Given the description of an element on the screen output the (x, y) to click on. 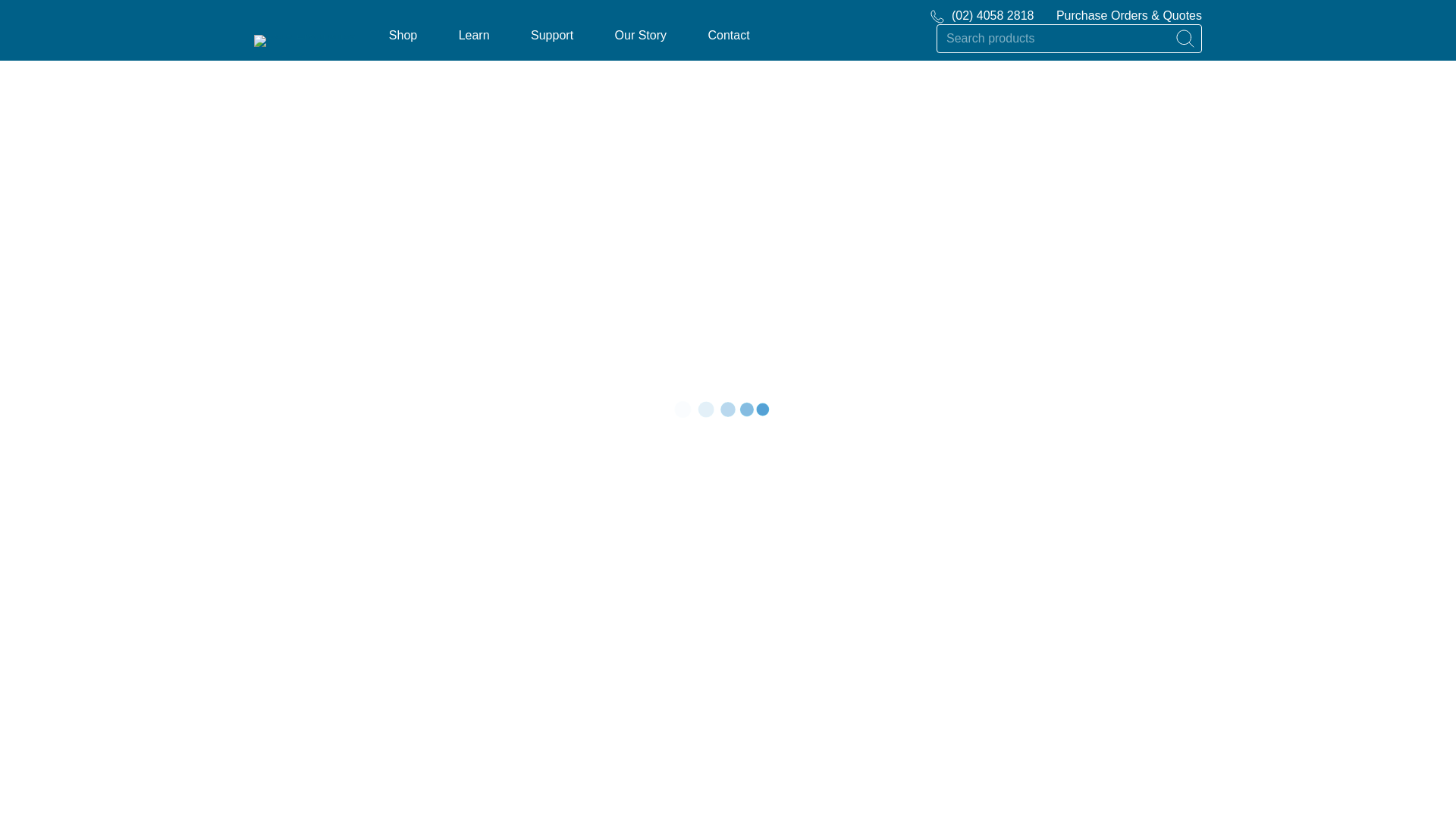
Our Story (640, 35)
Shop (402, 35)
Support (552, 35)
Contact (728, 35)
Learn (473, 35)
